Given the description of an element on the screen output the (x, y) to click on. 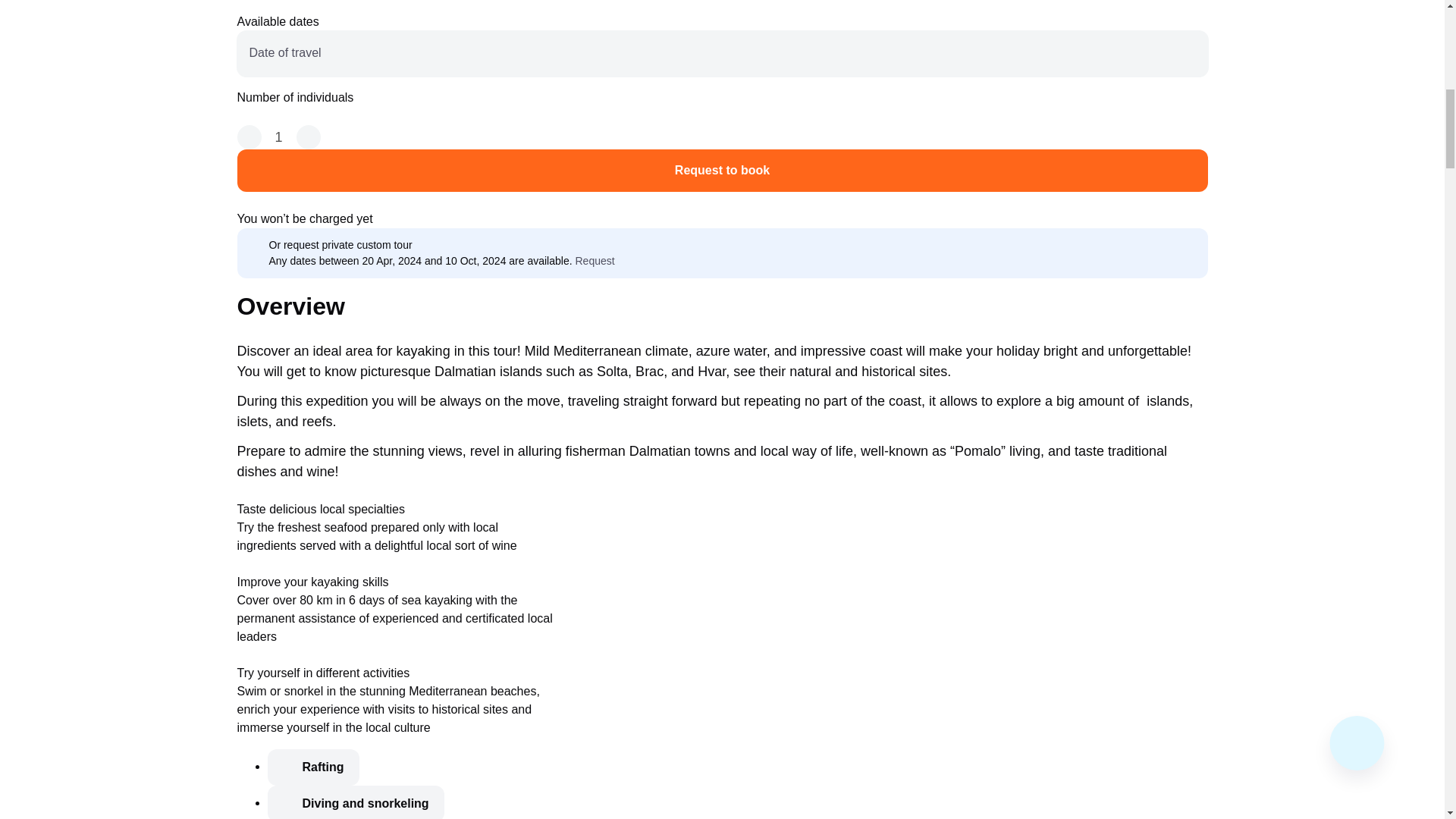
Request (602, 260)
Calculate tour price with tickets from your city (721, 6)
Request to book (721, 170)
Diving and snorkeling (355, 802)
1 (277, 137)
Rafting (312, 767)
